Given the description of an element on the screen output the (x, y) to click on. 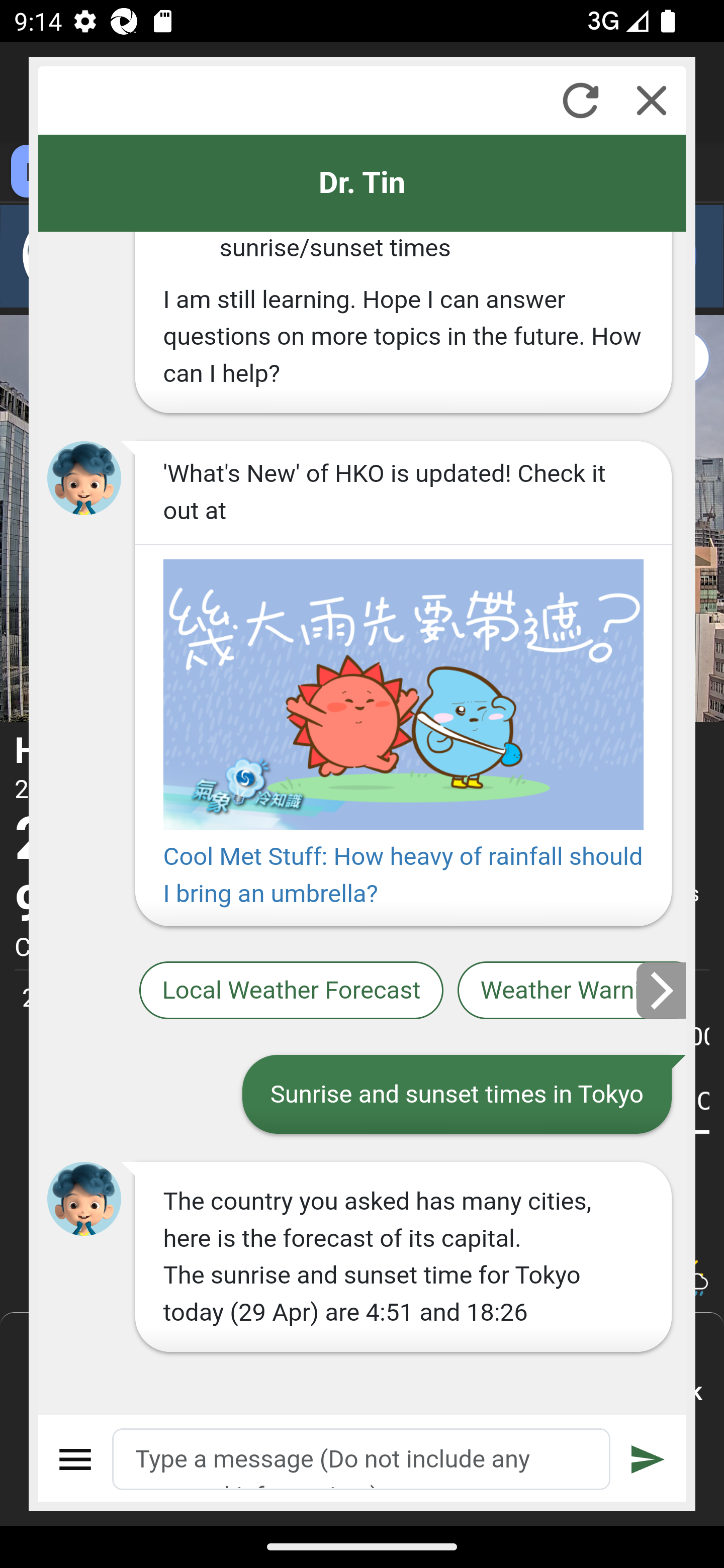
Refresh (580, 100)
Close (651, 100)
Local Weather Forecast (291, 990)
Weather Warnings (571, 990)
Next slide (661, 990)
Menu (75, 1458)
Submit (648, 1458)
